Given the description of an element on the screen output the (x, y) to click on. 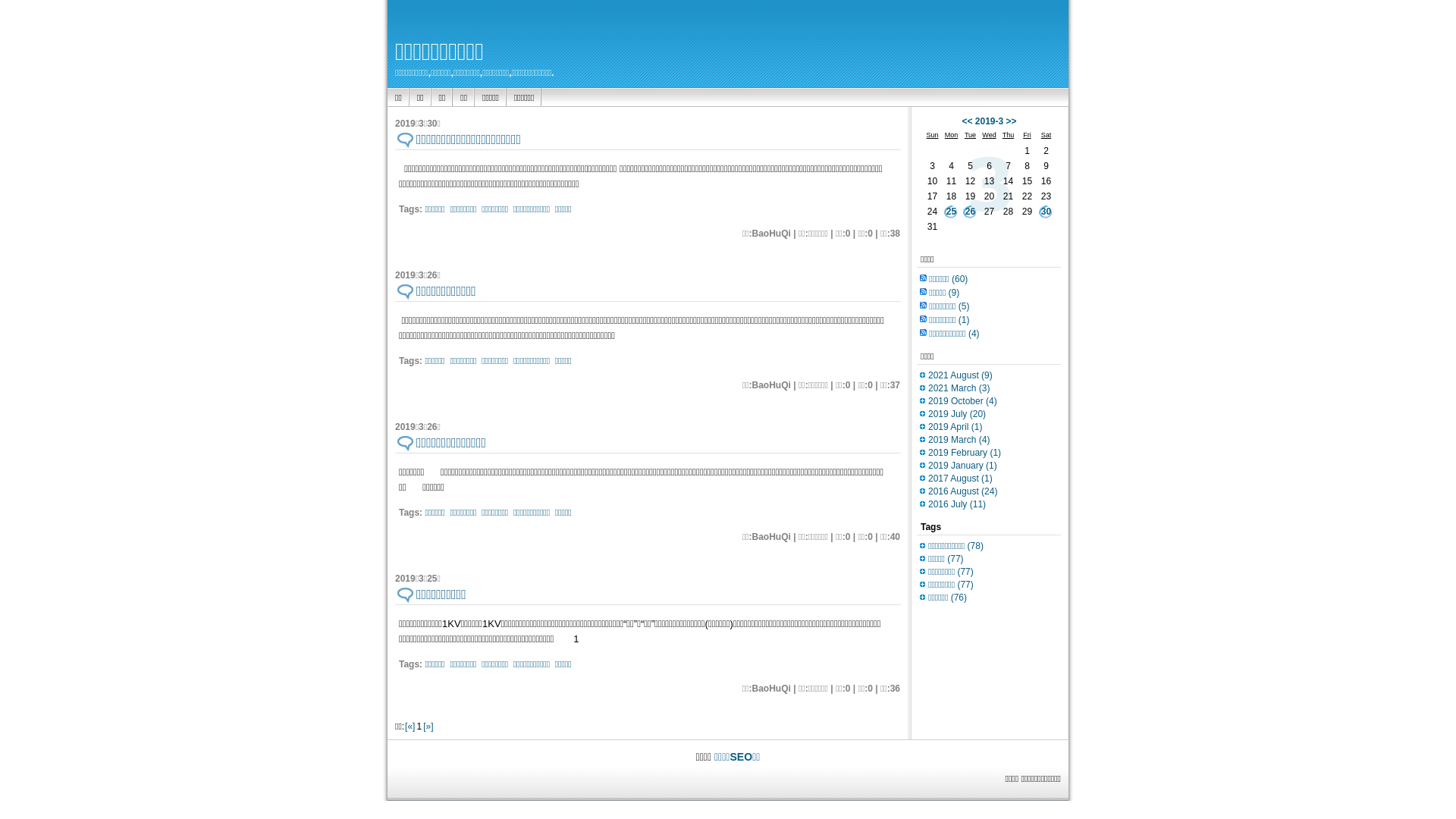
>> Element type: text (1011, 121)
2019 April (1) Element type: text (955, 426)
2021 March (3) Element type: text (958, 387)
2016 July (11) Element type: text (956, 503)
2019 October (4) Element type: text (962, 400)
2019-3 Element type: text (989, 121)
30 Element type: text (1046, 211)
26 Element type: text (970, 211)
<< Element type: text (966, 121)
2017 August (1) Element type: text (960, 478)
2016 August (24) Element type: text (962, 491)
2019 February (1) Element type: text (964, 452)
2019 January (1) Element type: text (962, 465)
25 Element type: text (951, 211)
2019 July (20) Element type: text (956, 413)
2019 March (4) Element type: text (958, 439)
2021 August (9) Element type: text (960, 375)
